Given the description of an element on the screen output the (x, y) to click on. 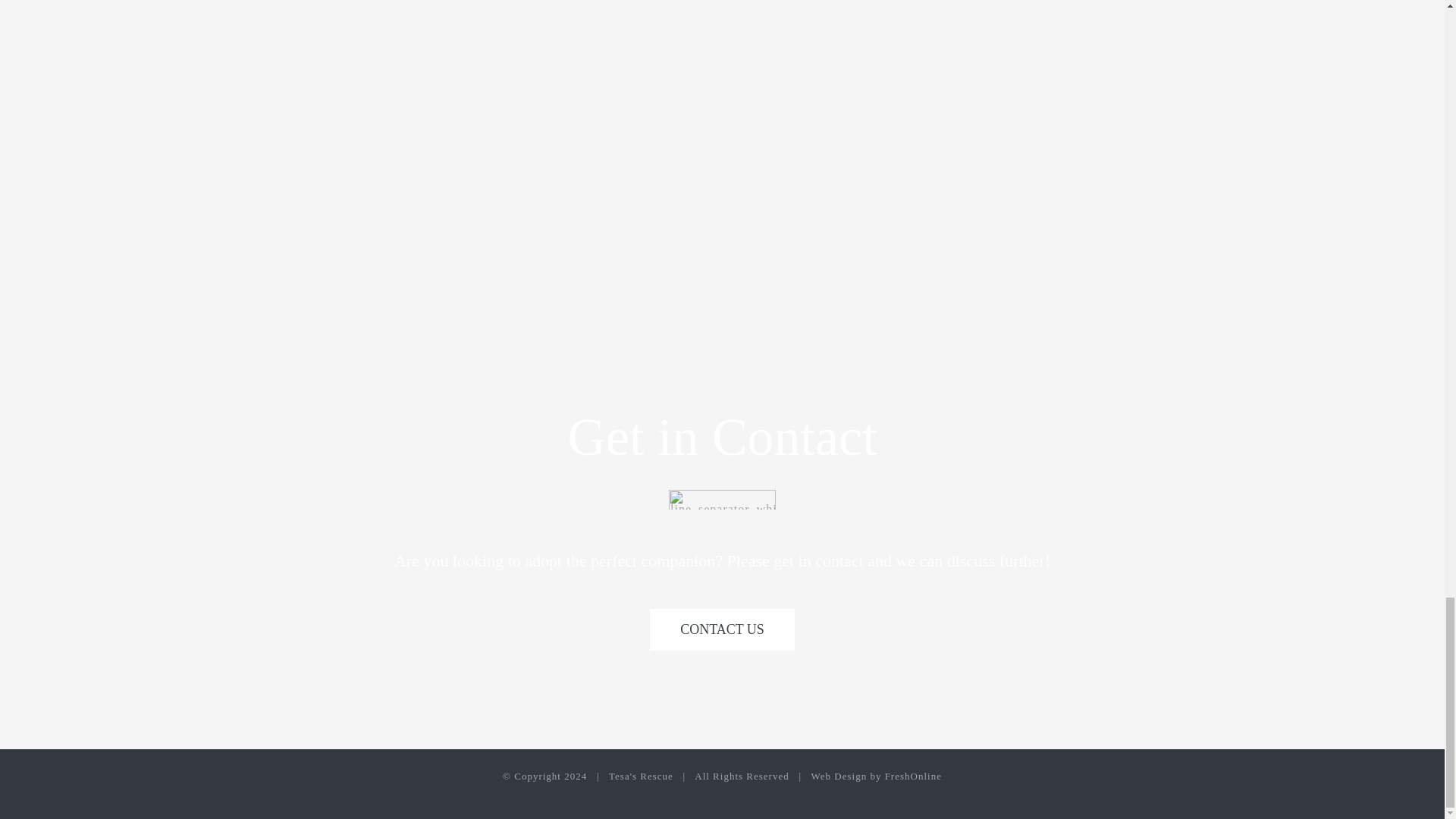
 Web Design in Hastings (876, 776)
CONTACT US (721, 629)
Web Design by FreshOnline (876, 776)
